Given the description of an element on the screen output the (x, y) to click on. 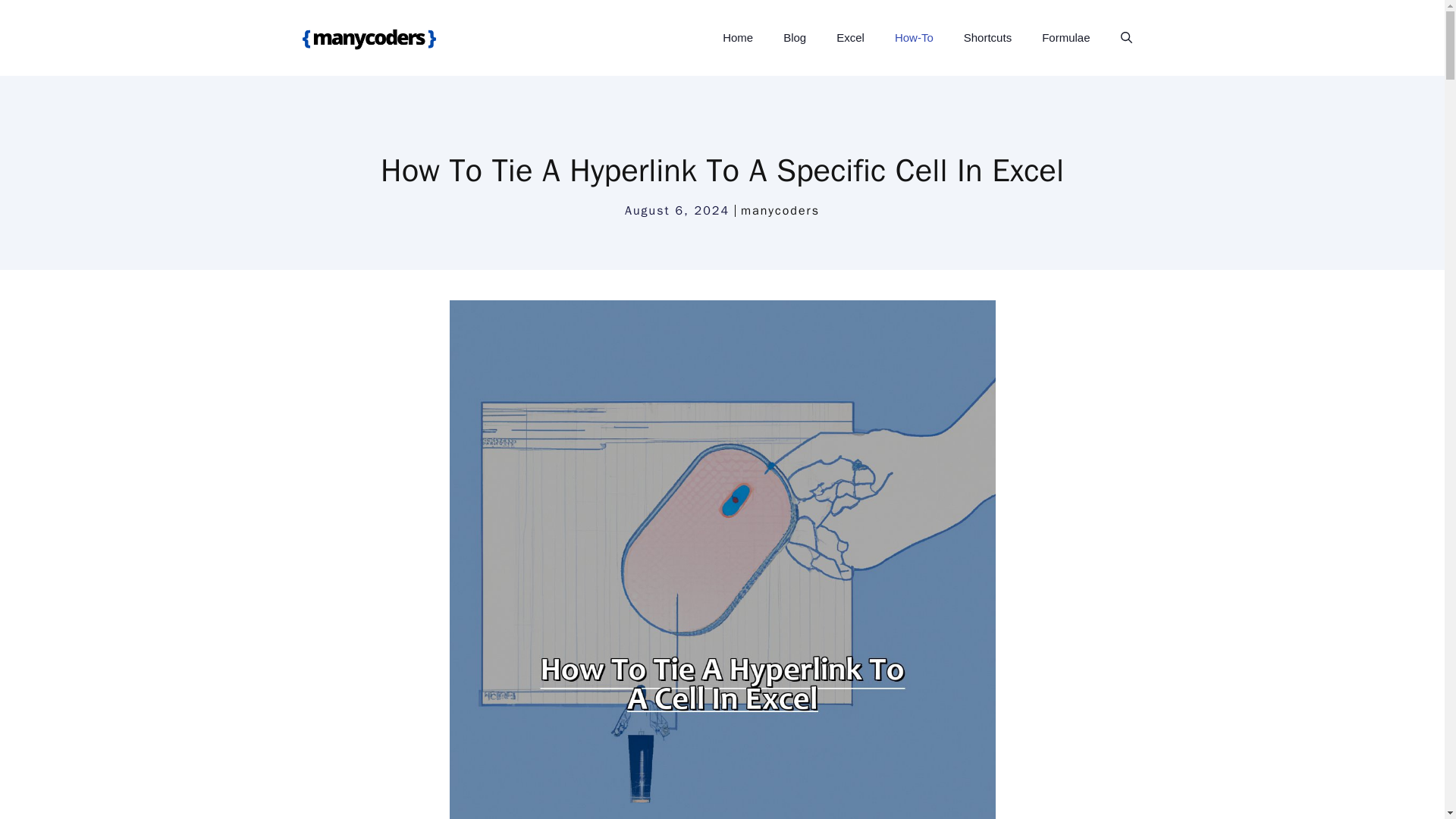
Blog (794, 37)
Excel (850, 37)
Home (737, 37)
Shortcuts (987, 37)
Formulae (1065, 37)
How-To (914, 37)
